Given the description of an element on the screen output the (x, y) to click on. 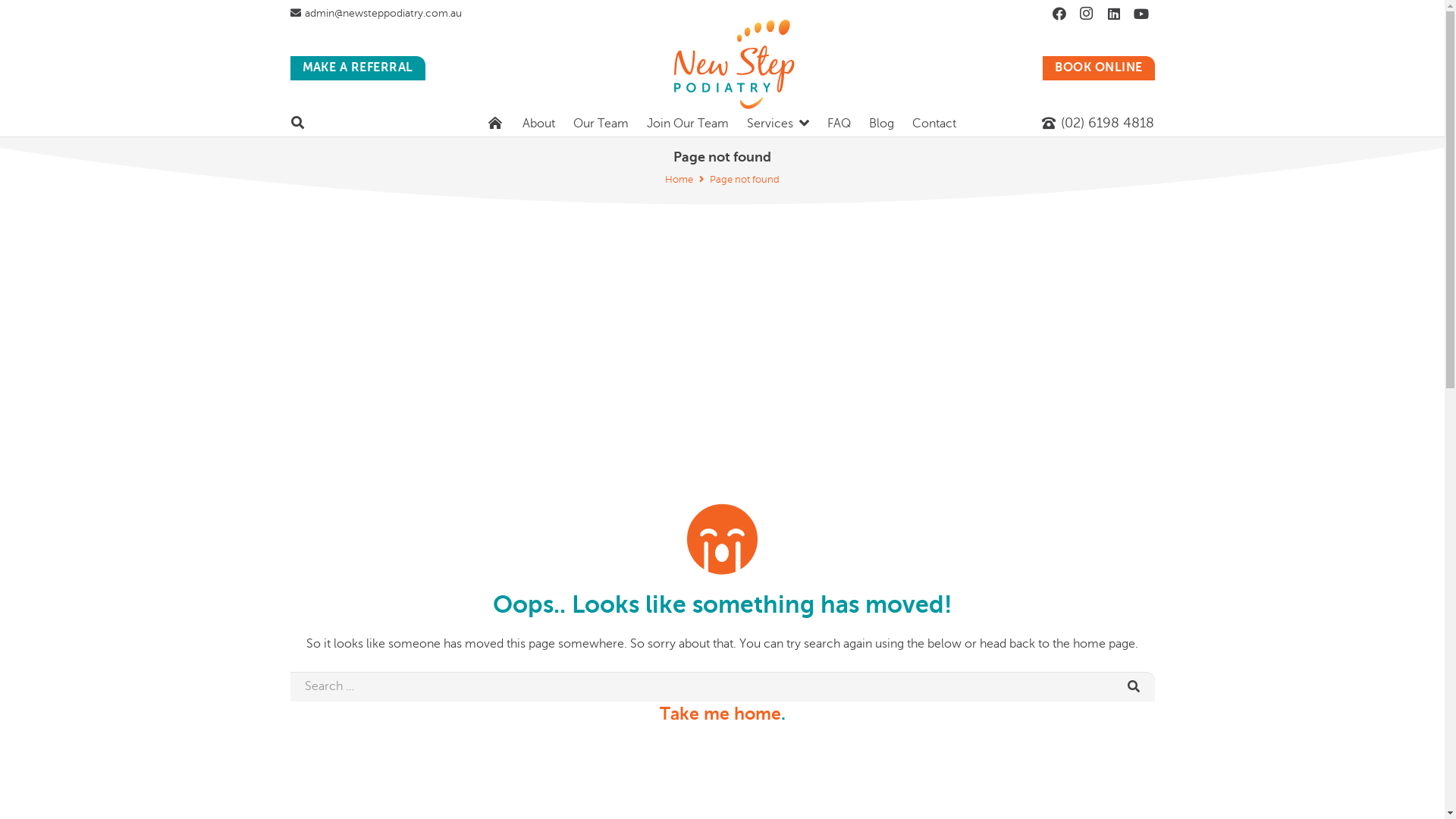
Contact Element type: text (934, 123)
Search Element type: text (1137, 686)
Services Element type: text (777, 123)
LinkedIn Element type: hover (1112, 13)
Oops.. Looks like something has moved! Element type: text (721, 604)
FAQ Element type: text (838, 123)
YouTube Element type: hover (1140, 13)
(02) 6198 4818 Element type: text (1097, 122)
Join Our Team Element type: text (687, 123)
Home Element type: text (679, 179)
MAKE A REFERRAL Element type: text (356, 68)
Blog Element type: text (881, 123)
Take me home Element type: text (720, 713)
admin@newsteppodiatry.com.au Element type: text (375, 12)
BOOK ONLINE Element type: text (1098, 68)
Instagram Element type: hover (1085, 13)
Our Team Element type: text (600, 123)
About Element type: text (538, 123)
Facebook Element type: hover (1058, 13)
